Given the description of an element on the screen output the (x, y) to click on. 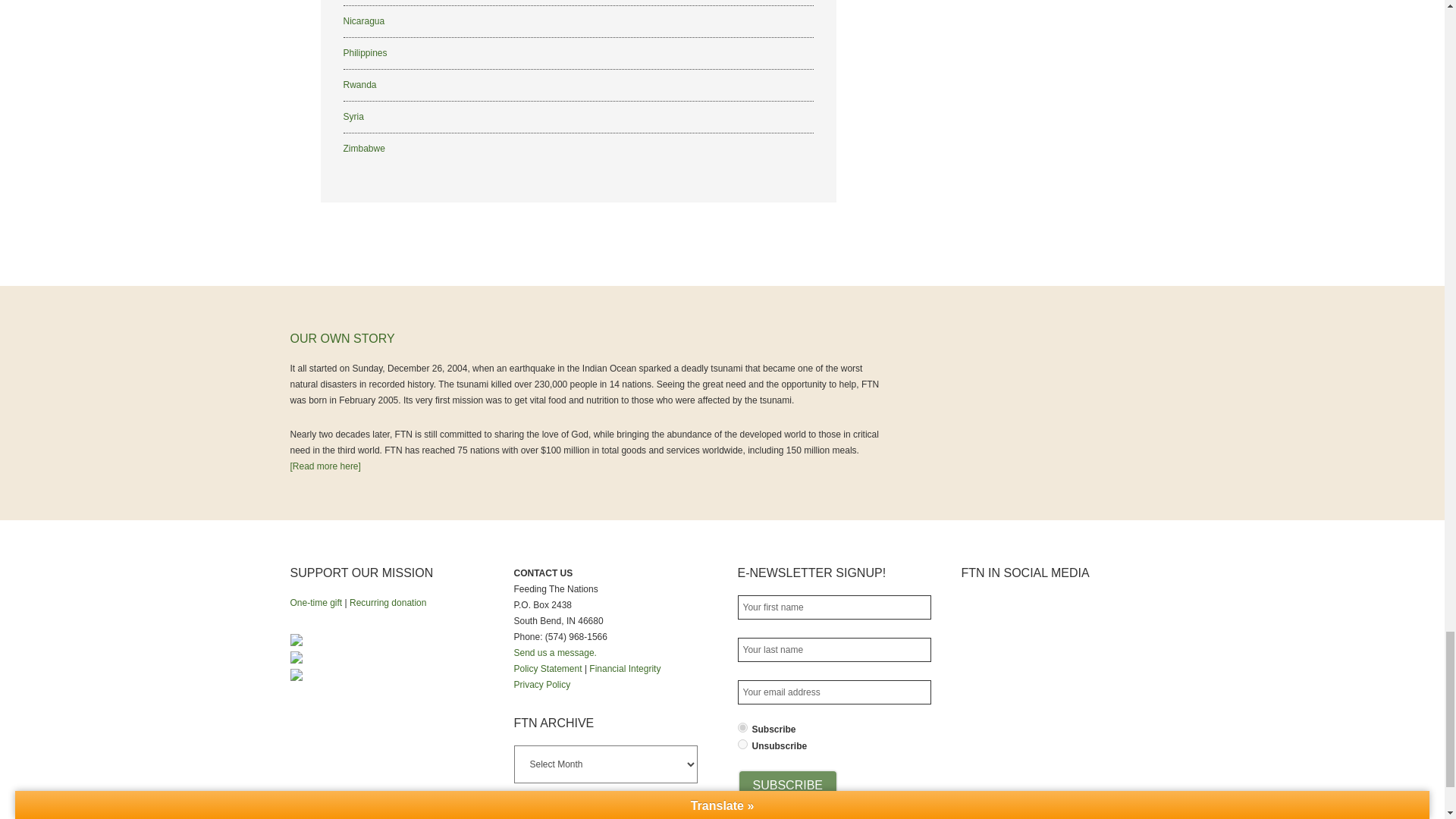
Subscribe (786, 785)
unsubscribe (741, 744)
subscribe (741, 727)
